Given the description of an element on the screen output the (x, y) to click on. 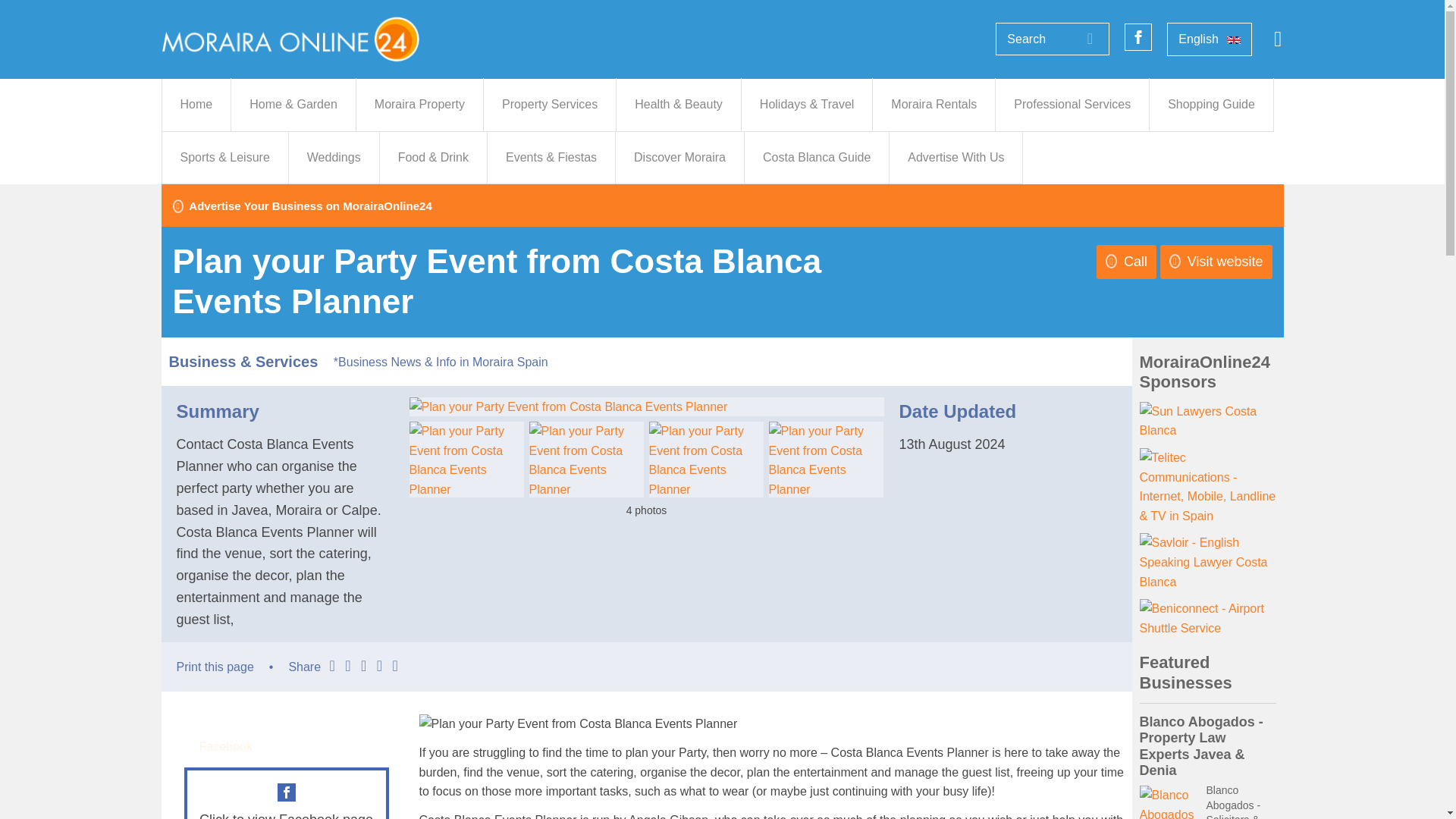
Home (196, 104)
English (1209, 39)
Moraira Online 24 (289, 38)
